Given the description of an element on the screen output the (x, y) to click on. 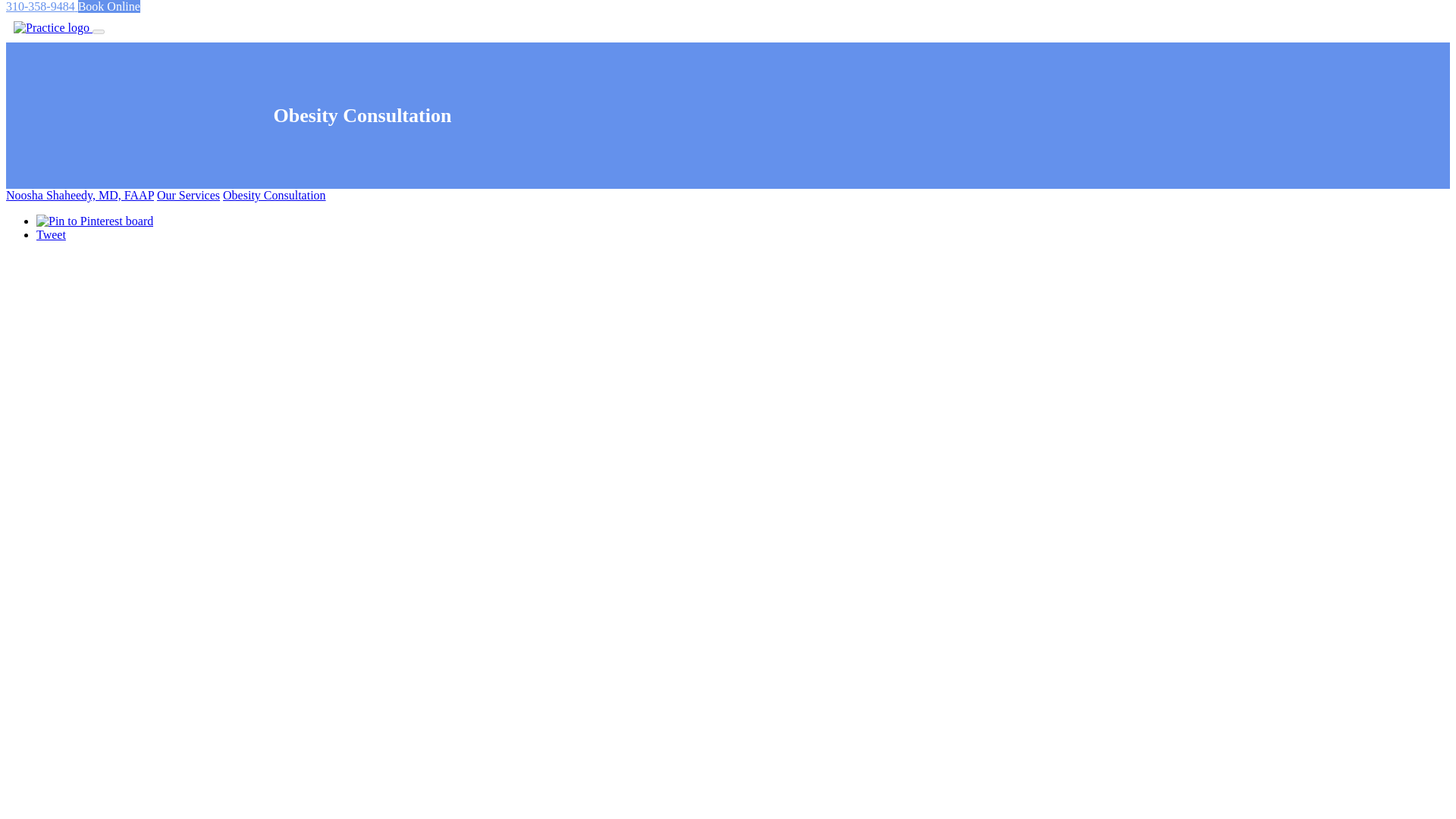
Book Online (108, 6)
Our Services (188, 195)
310-358-9484 (41, 6)
Noosha Shaheedy, MD, FAAP (79, 195)
Obesity Consultation (274, 195)
Tweet (50, 234)
